Given the description of an element on the screen output the (x, y) to click on. 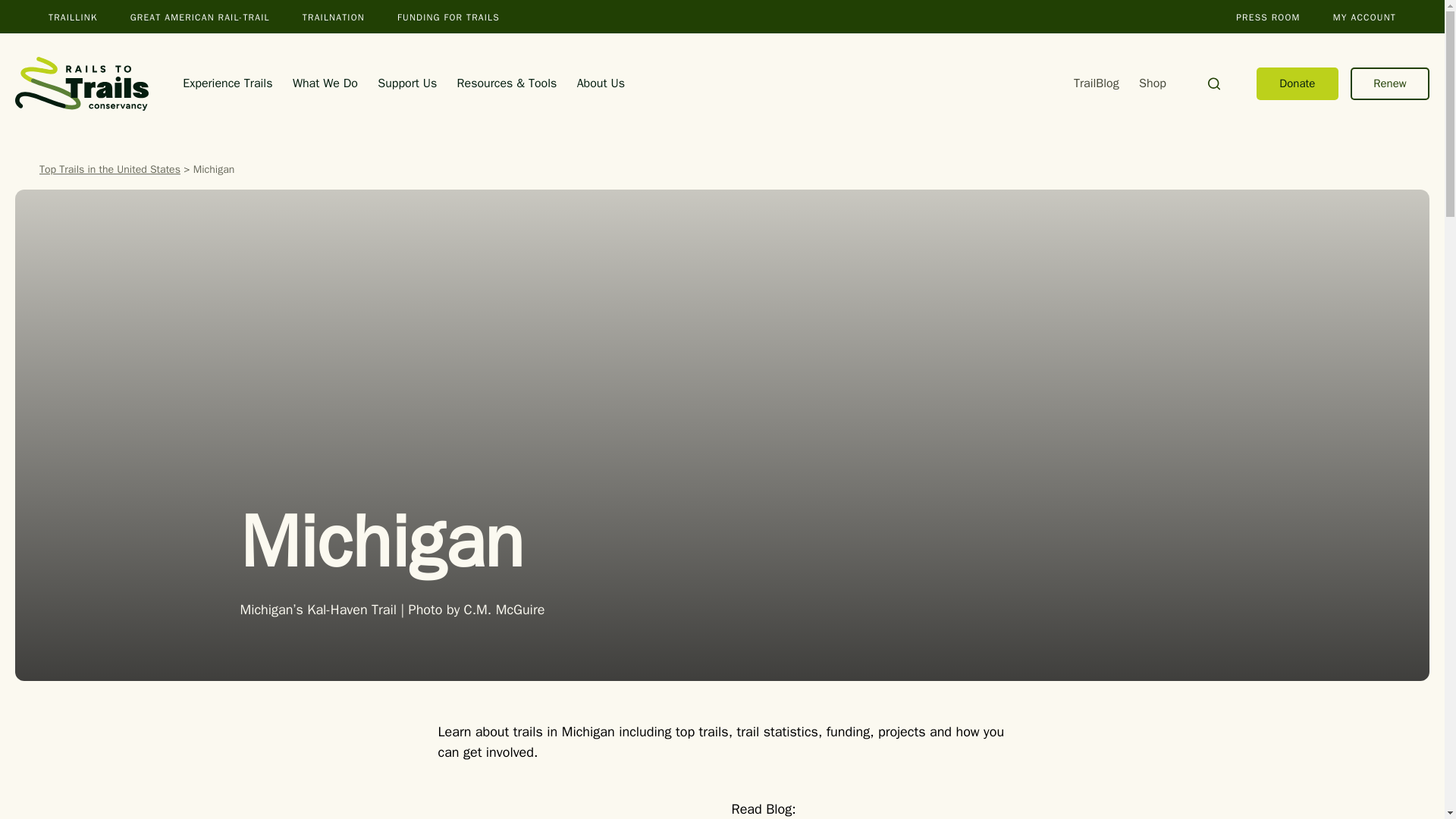
Donate (1297, 83)
TrailBlog (1096, 83)
Shop (1152, 83)
TrailBlog (1096, 83)
Renew (1390, 83)
FUNDING FOR TRAILS (448, 16)
What We Do (325, 83)
About Us (600, 83)
MY ACCOUNT (1364, 16)
Donate (1297, 83)
